Given the description of an element on the screen output the (x, y) to click on. 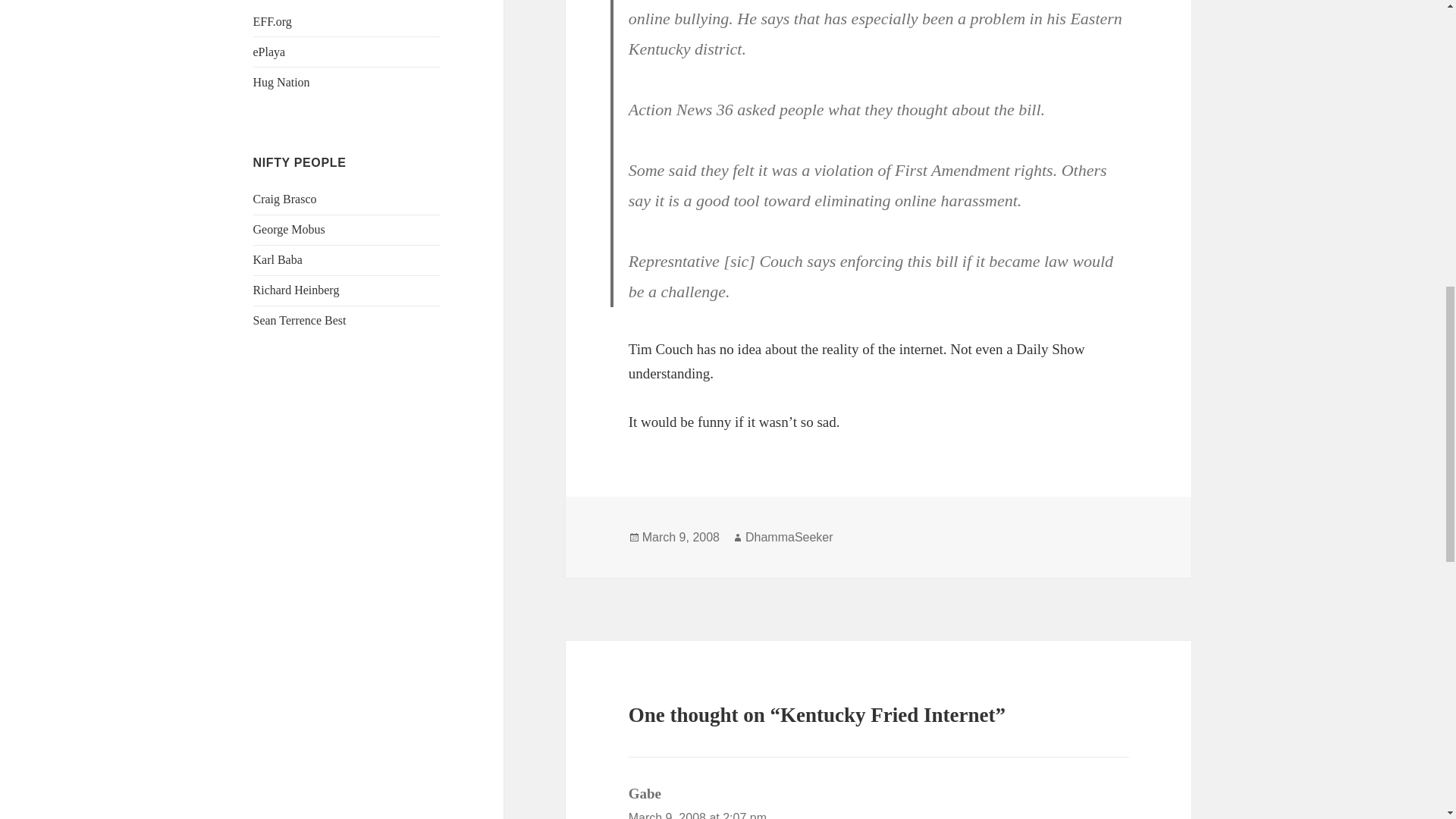
March 9, 2008 at 2:07 pm (697, 815)
Craig Brasco (285, 198)
Sean Terrence Best (299, 319)
The World Famous Artist Sean Terrence Best (299, 319)
ePlaya (269, 51)
Karl Baba (277, 259)
Richard Heinberg (296, 289)
March 9, 2008 (680, 537)
George Mobus (288, 228)
DhammaSeeker (788, 537)
Hug Nation (281, 82)
EFF.org (272, 21)
